Given the description of an element on the screen output the (x, y) to click on. 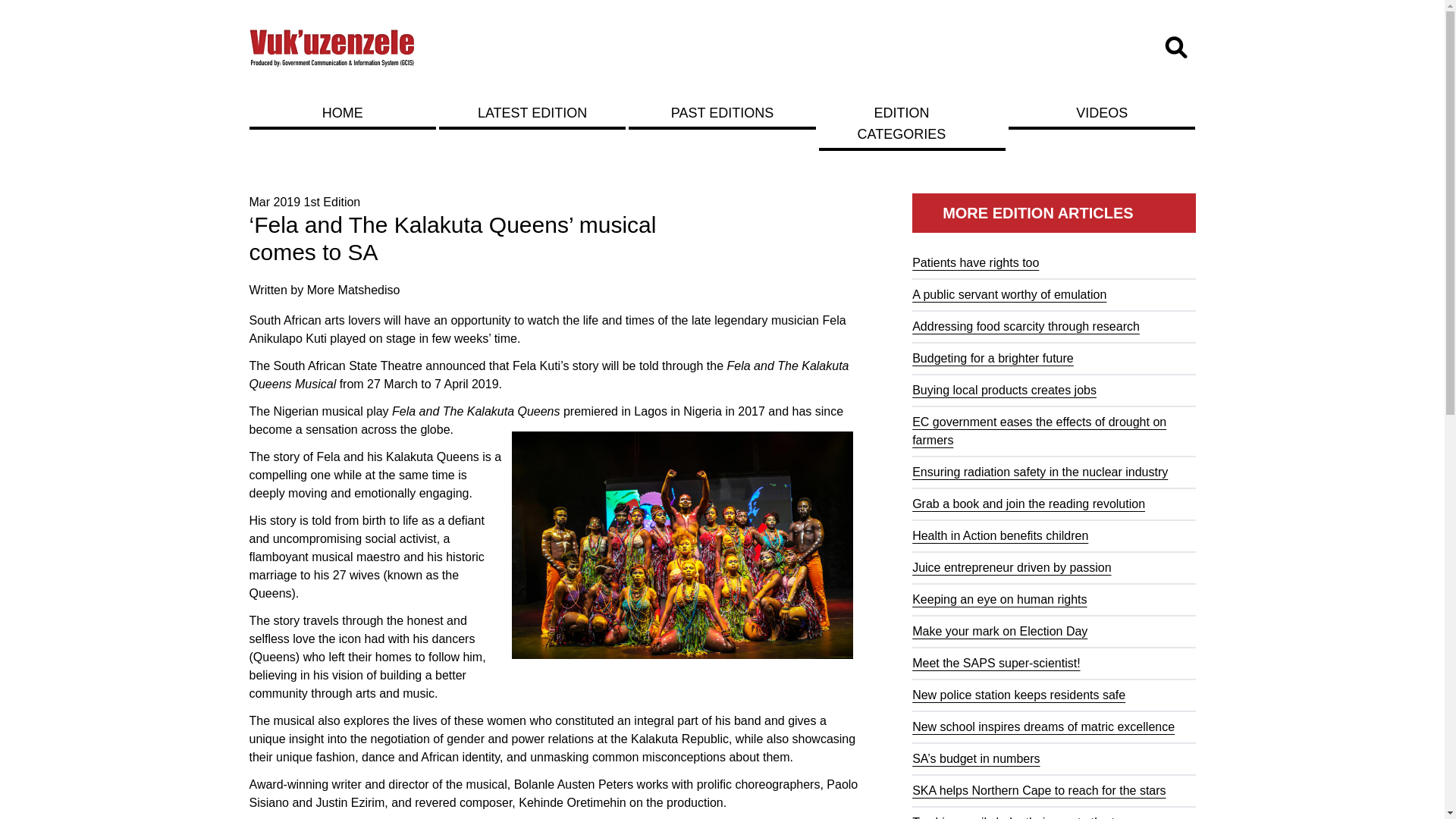
VIDEOS (1102, 112)
Addressing food scarcity through research (1026, 326)
Home (331, 47)
Grab a book and join the reading revolution (1028, 503)
HOME (341, 112)
Buying local products creates jobs (1004, 390)
Redirect to the latest Book (532, 112)
PAST EDITIONS (721, 112)
Ensuring radiation safety in the nuclear industry (1039, 472)
EC government eases the effects of drought on farmers (1039, 430)
Patients have rights too (975, 262)
A public servant worthy of emulation (1009, 294)
LATEST EDITION (532, 112)
Budgeting for a brighter future (993, 358)
